Given the description of an element on the screen output the (x, y) to click on. 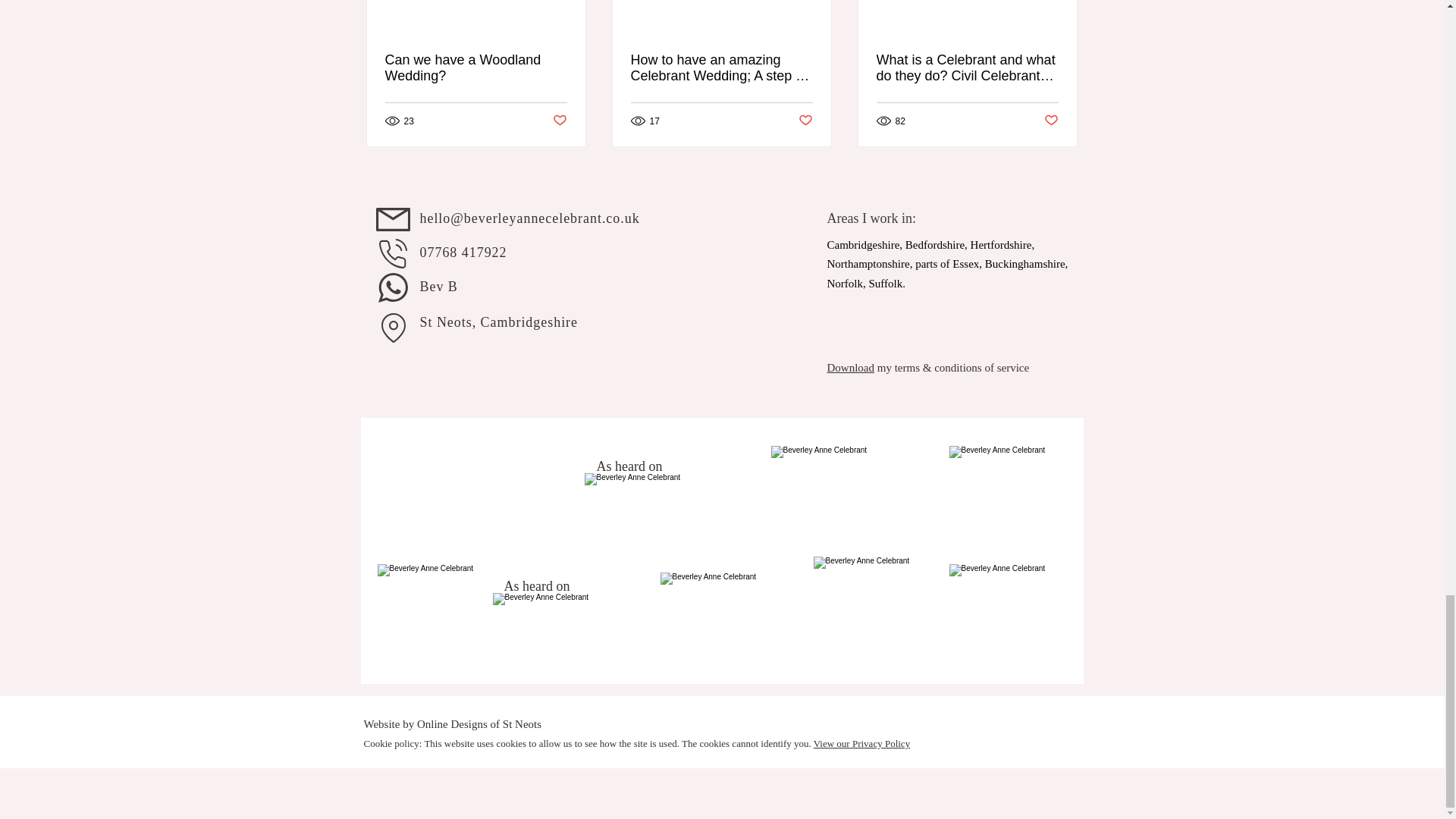
What is a Celebrant and what do they do? Civil Celebrants UK (967, 68)
Can we have a Woodland Wedding? (476, 68)
Post not marked as liked (804, 120)
Website by Online Designs of St Neots (452, 724)
Post not marked as liked (1050, 120)
Post not marked as liked (558, 120)
